Given the description of an element on the screen output the (x, y) to click on. 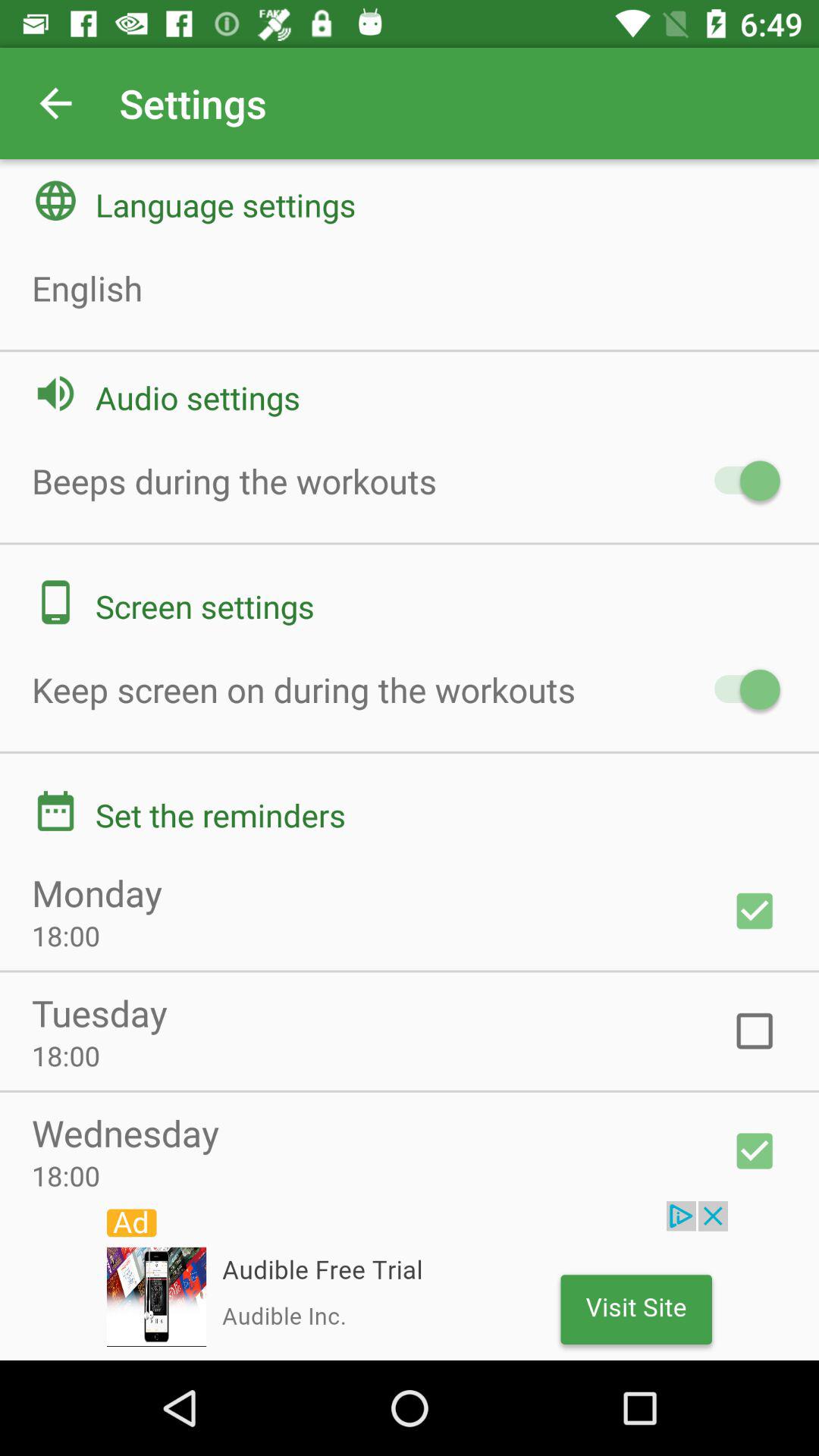
activate reminder for tuesday (754, 1030)
